Given the description of an element on the screen output the (x, y) to click on. 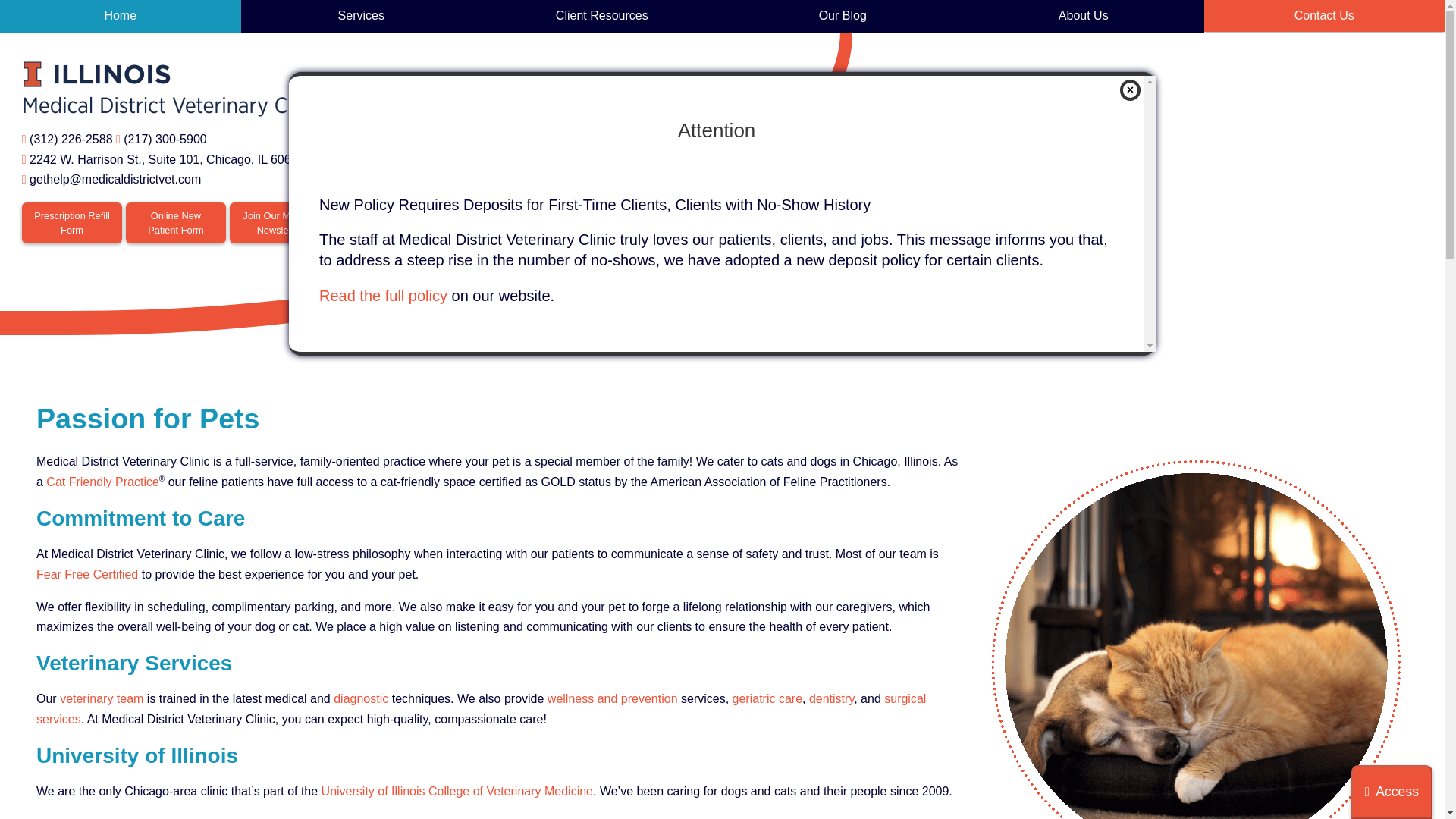
Medical District Veterinary Clinic (172, 88)
diagnostic (360, 698)
Fear Free Certified (87, 574)
Read the full policy (382, 295)
Client Resources (601, 16)
veterinary team (100, 698)
Access (1391, 791)
Our Blog (842, 16)
Home (120, 16)
2242 W. Harrison St., Suite 101, Chicago, IL 60612 (166, 159)
